Given the description of an element on the screen output the (x, y) to click on. 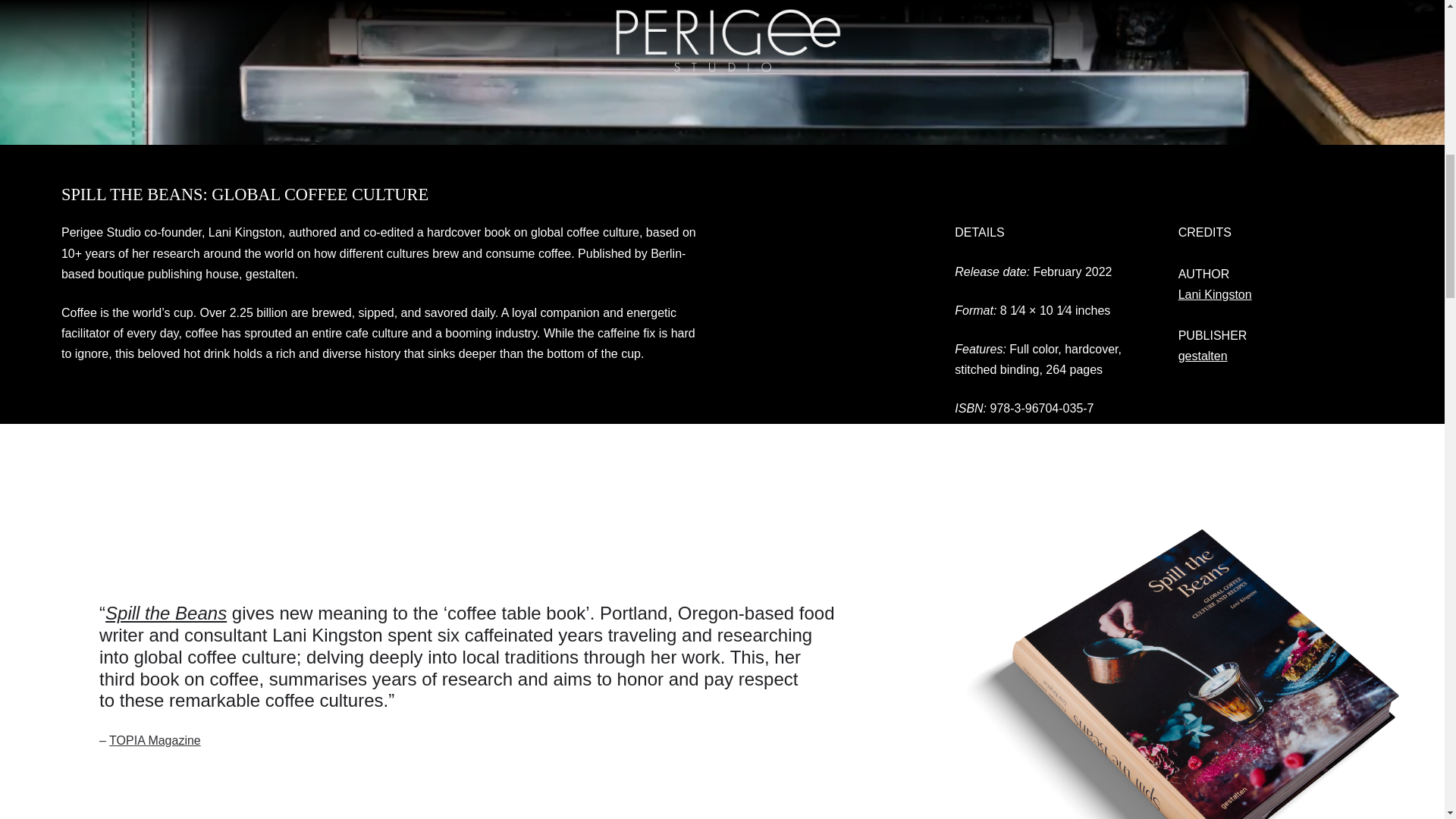
gestalten (1202, 355)
TOPIA Magazine (154, 739)
Spill the Beans (165, 612)
Lani Kingston (1214, 294)
